Given the description of an element on the screen output the (x, y) to click on. 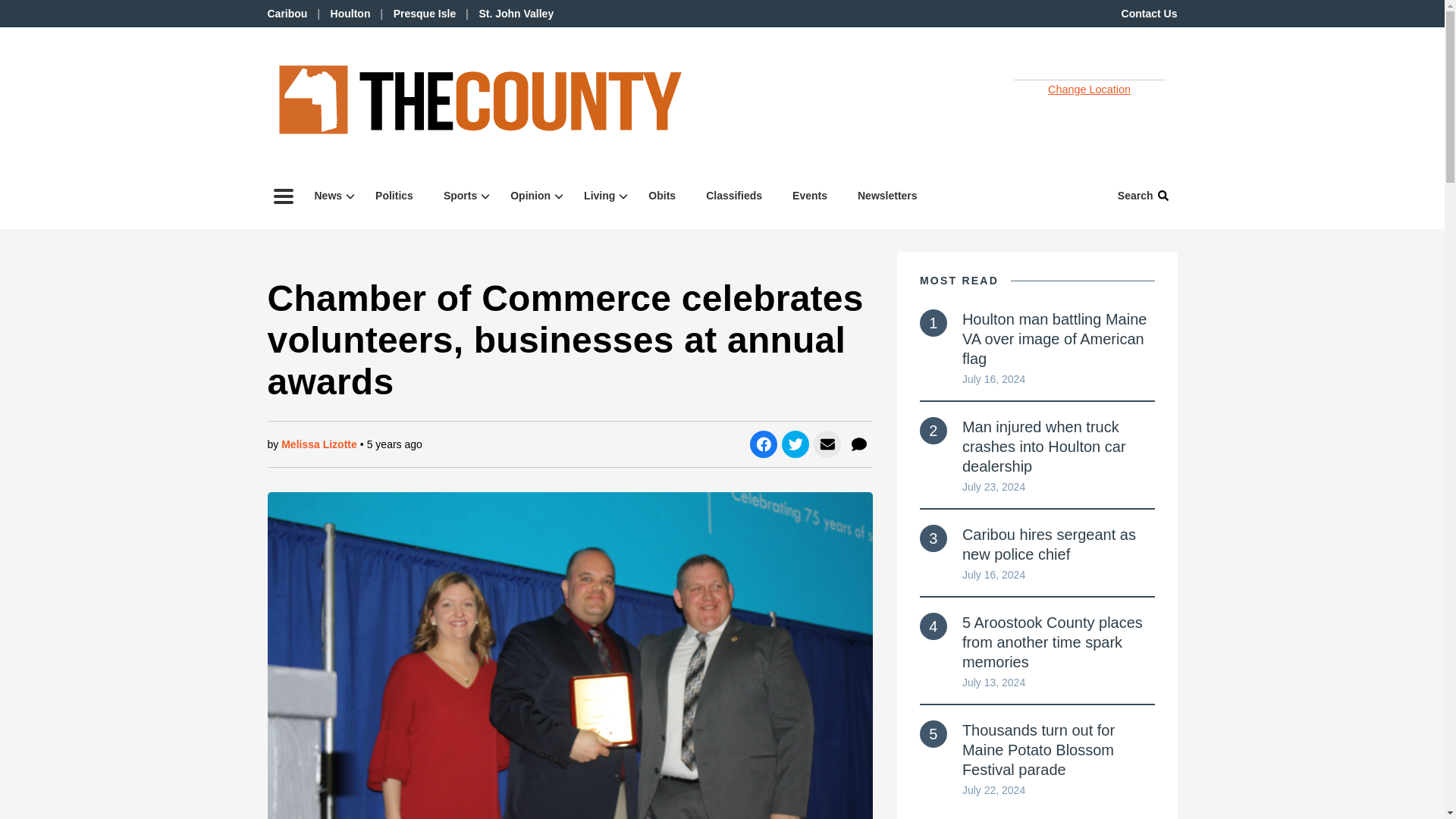
Living (601, 195)
Contact Us (1149, 13)
Sports (461, 195)
St. John Valley (516, 13)
Events (810, 195)
Houlton (350, 13)
Obits (661, 195)
Classifieds (733, 195)
Opinion (532, 195)
Newsletters (888, 195)
Presque Isle (425, 13)
News (328, 195)
Politics (393, 195)
Caribou (286, 13)
